Given the description of an element on the screen output the (x, y) to click on. 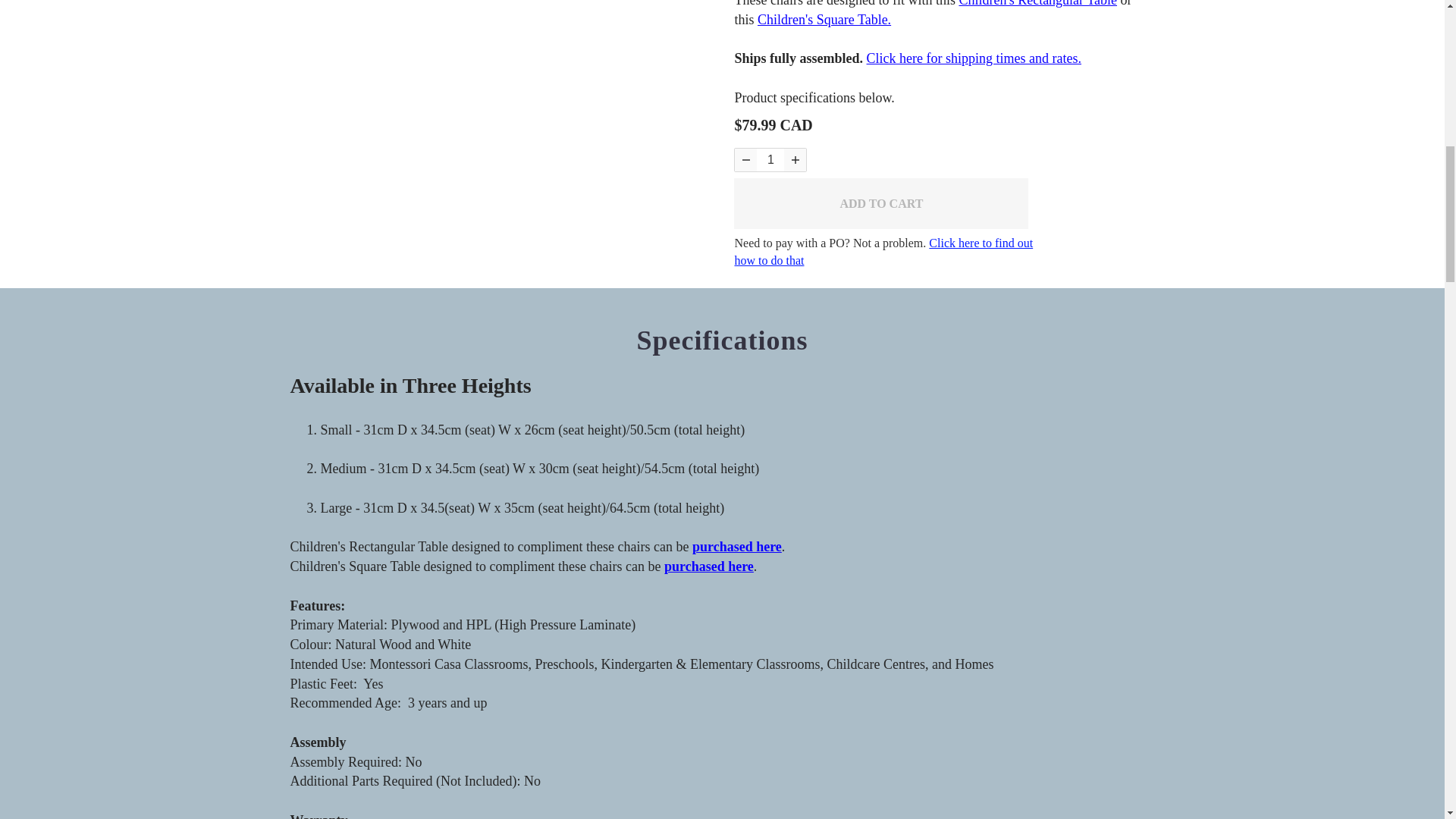
Qty (770, 159)
Qty (746, 159)
1 (770, 159)
Qty (795, 159)
